Given the description of an element on the screen output the (x, y) to click on. 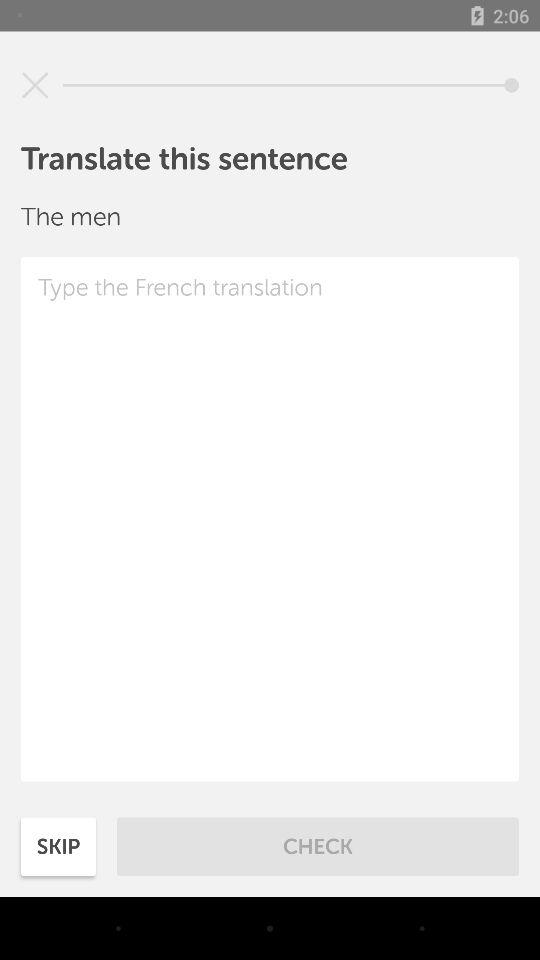
launch the skip (58, 846)
